Given the description of an element on the screen output the (x, y) to click on. 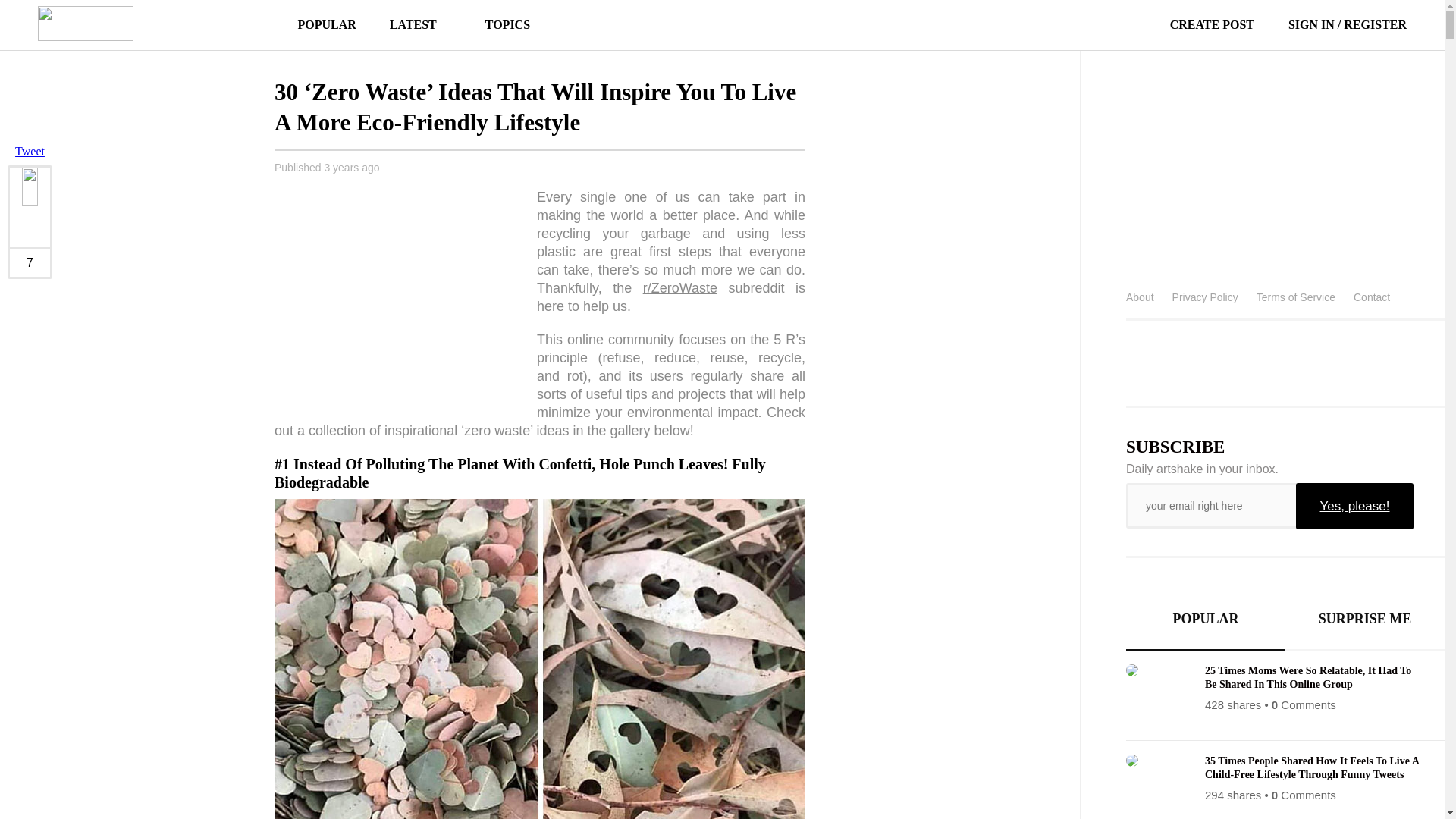
LATEST (413, 24)
TOPICS (499, 24)
POPULAR (326, 24)
CREATE POST (1194, 24)
